Given the description of an element on the screen output the (x, y) to click on. 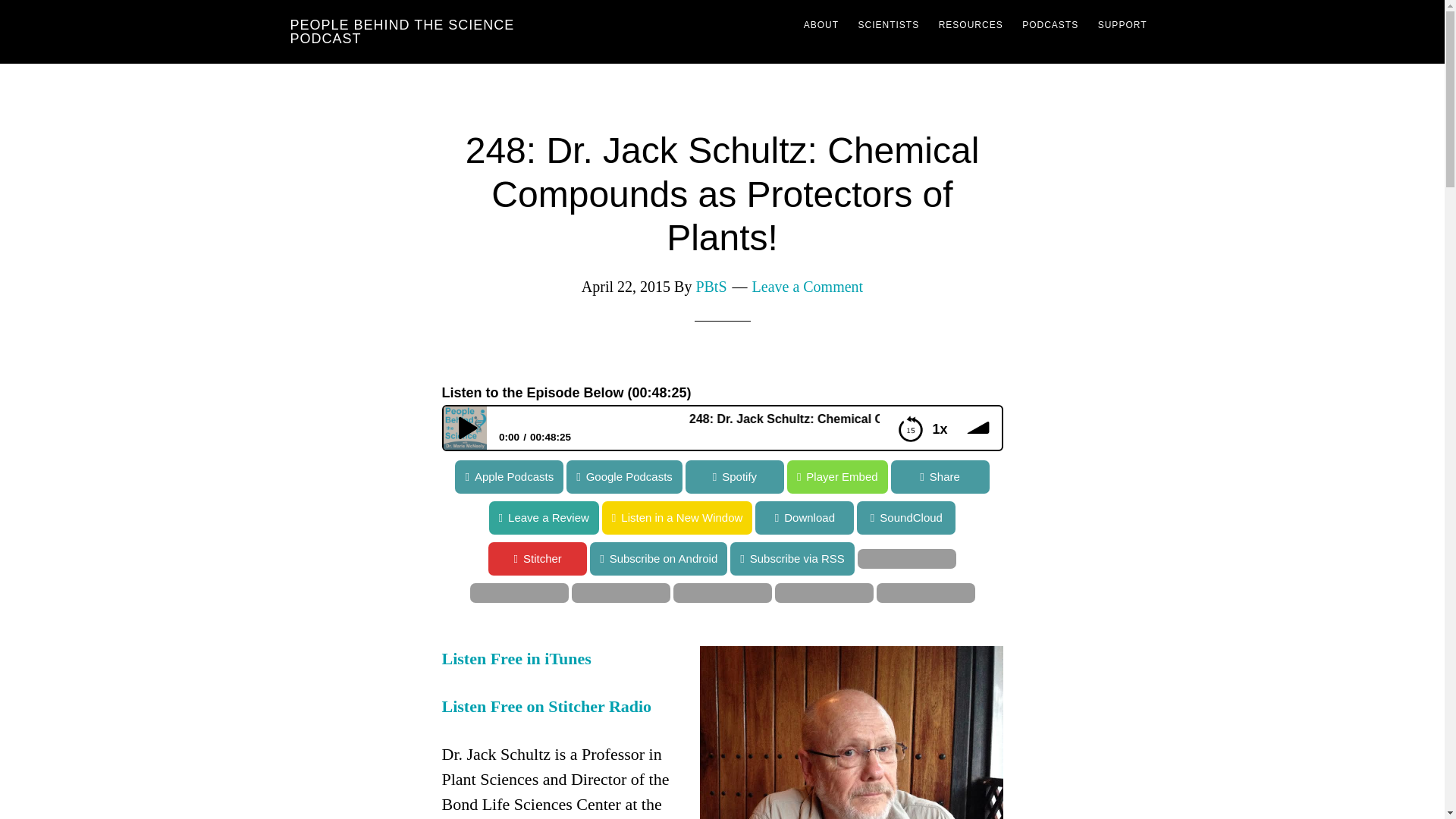
Apple Podcasts (497, 476)
RESOURCES (970, 24)
Stitcher (49, 558)
SCIENTISTS (888, 24)
Spotify (733, 476)
SoundCloud (49, 517)
Download (785, 517)
Leave a Comment (807, 286)
Leave a Review (55, 517)
